Given the description of an element on the screen output the (x, y) to click on. 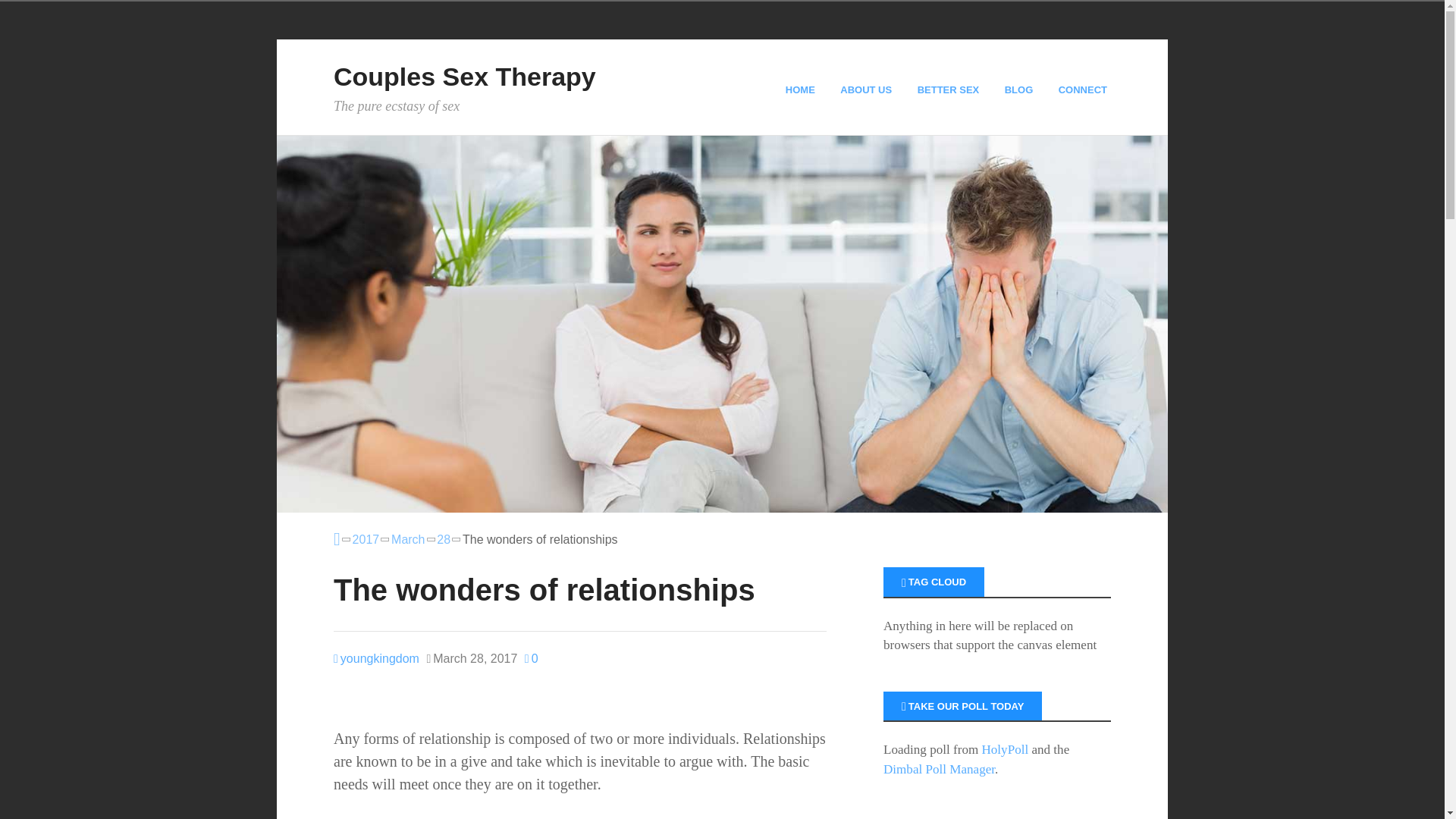
Posts by youngkingdom (376, 658)
CONNECT (1084, 90)
ABOUT US (867, 90)
HOME (802, 90)
BLOG (1020, 90)
BETTER SEX (950, 90)
Tuesday, March 28, 2017, 10:18 am (471, 659)
Couples Sex Therapy (464, 76)
youngkingdom (376, 658)
2017 (366, 539)
March (408, 539)
